Given the description of an element on the screen output the (x, y) to click on. 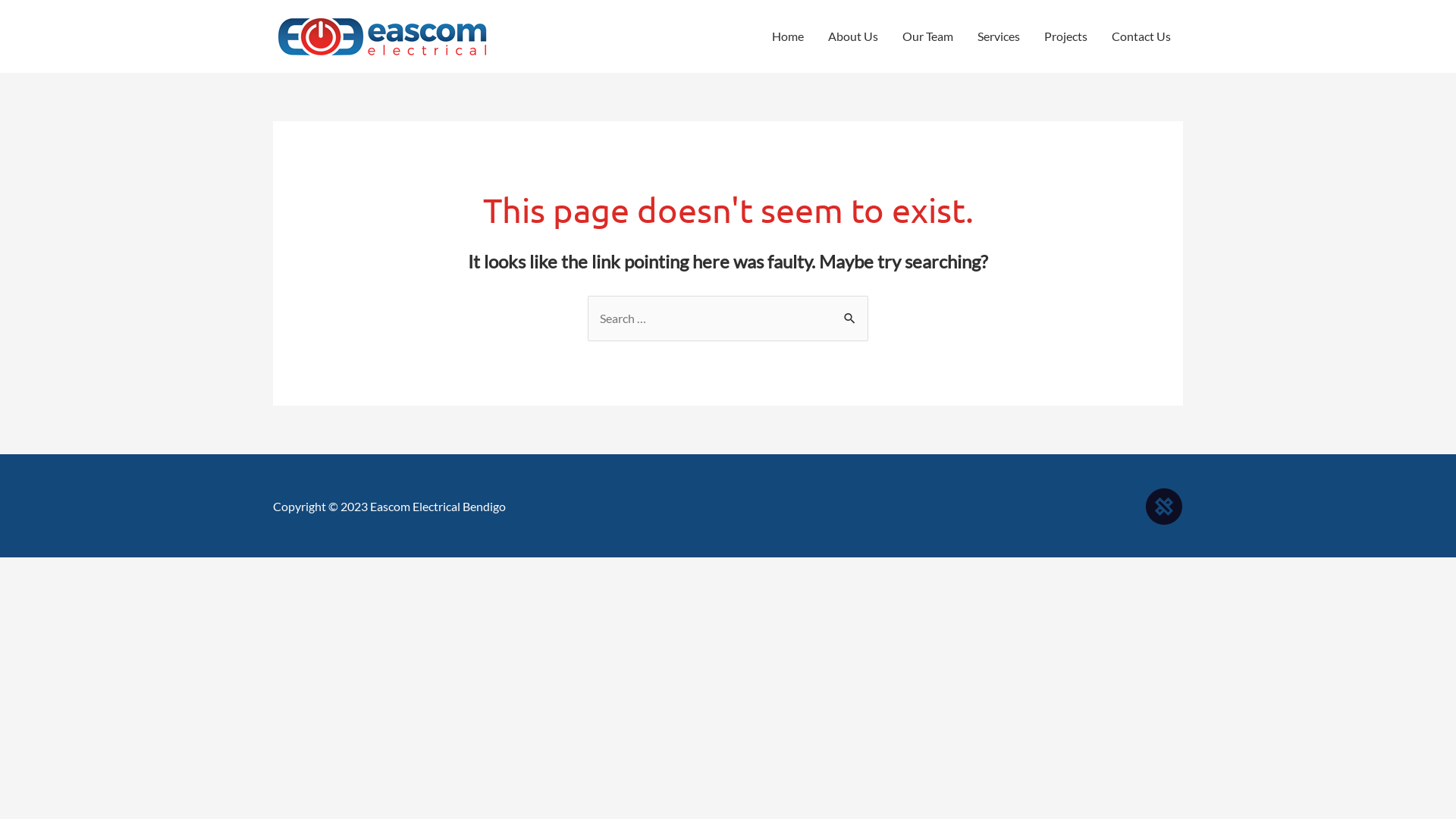
Home Element type: text (787, 36)
Projects Element type: text (1065, 36)
Search Element type: text (851, 316)
Our Team Element type: text (927, 36)
About Us Element type: text (852, 36)
Services Element type: text (998, 36)
Contact Us Element type: text (1141, 36)
